Given the description of an element on the screen output the (x, y) to click on. 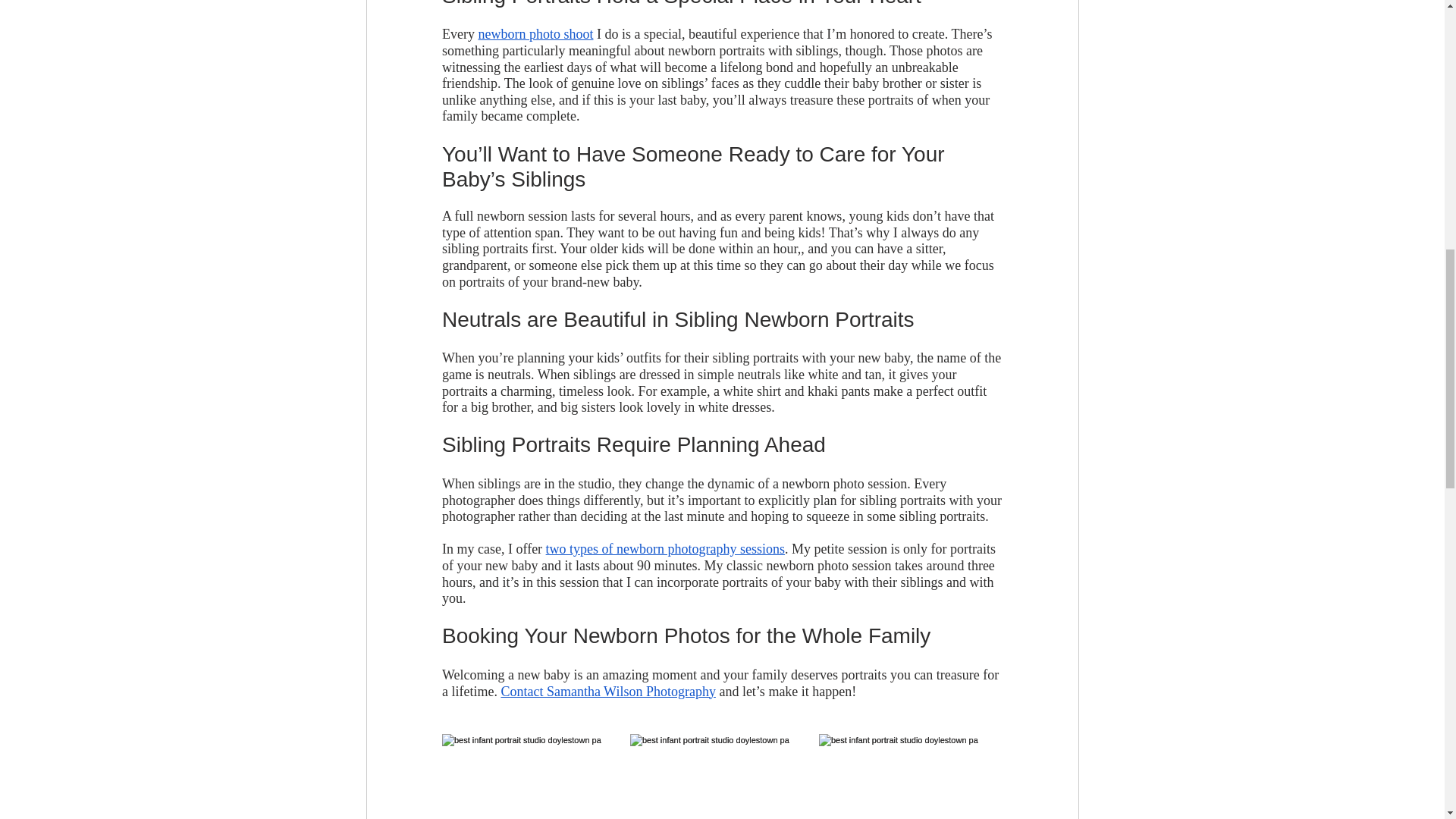
two types of newborn photography sessions (664, 548)
Contact Samantha Wilson Photography (607, 690)
newborn photo shoot (534, 33)
